Given the description of an element on the screen output the (x, y) to click on. 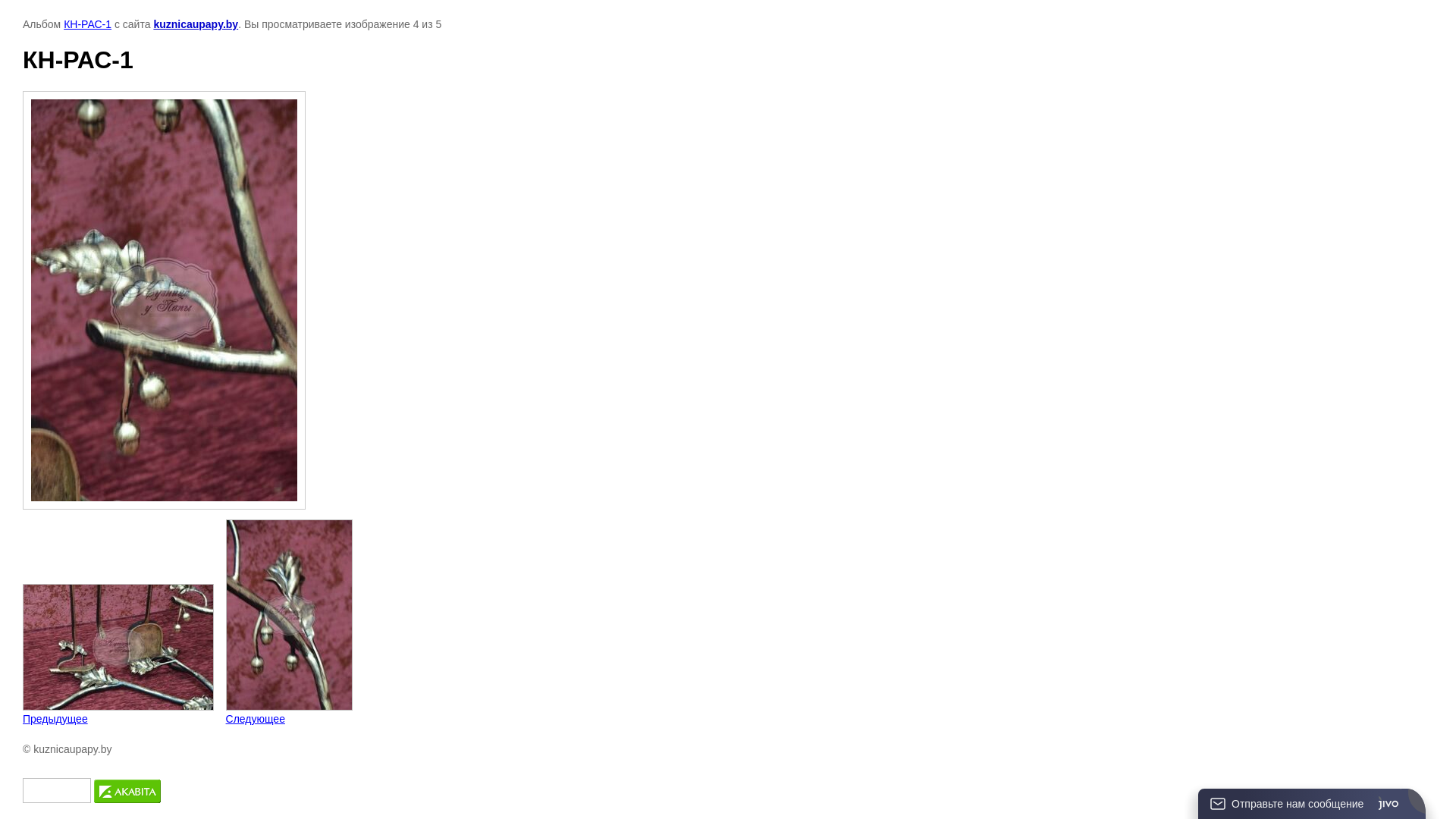
kuznicaupapy.by Element type: text (195, 24)
